Given the description of an element on the screen output the (x, y) to click on. 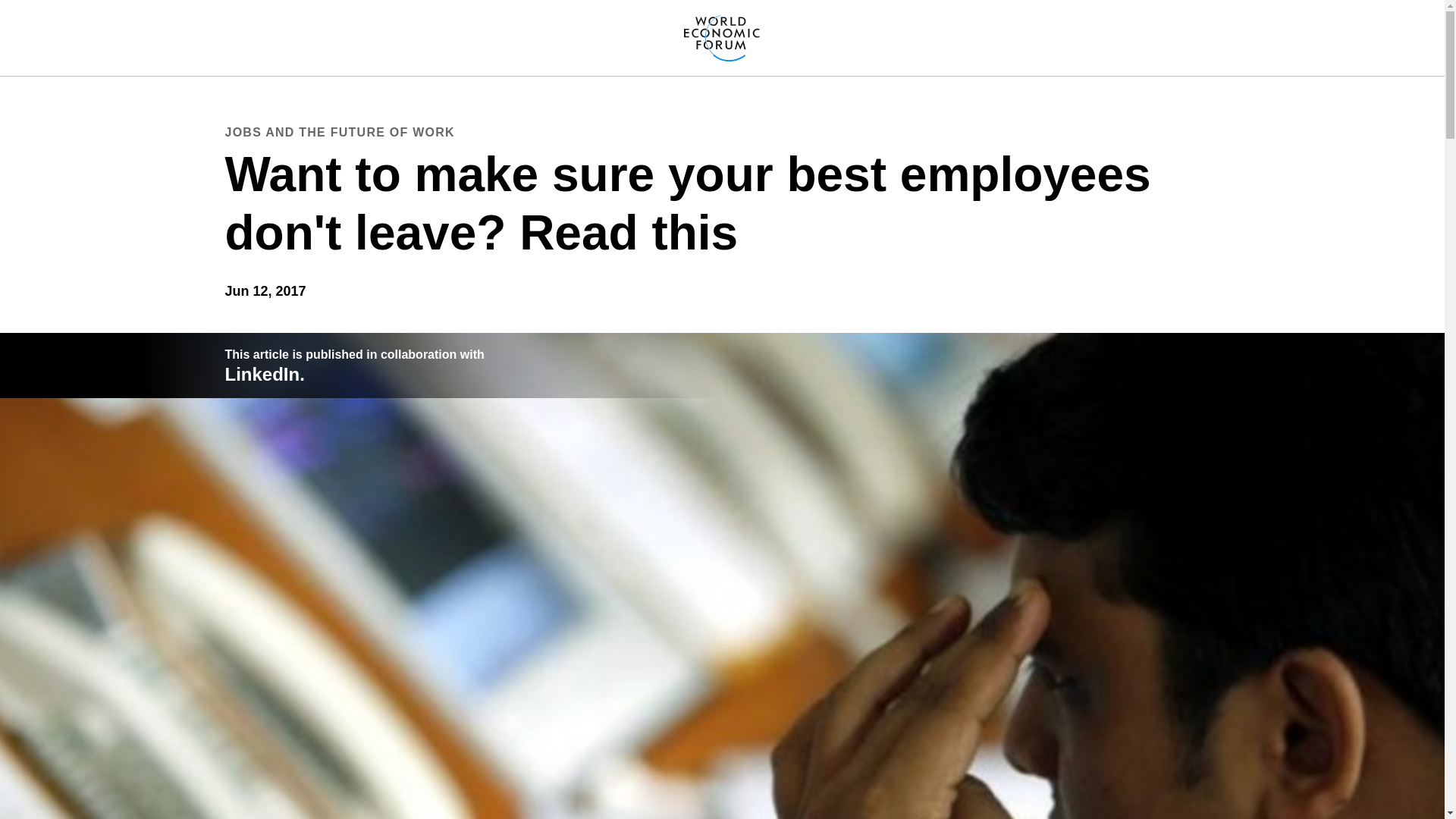
LinkedIn (261, 373)
JOBS AND THE FUTURE OF WORK (339, 132)
